Given the description of an element on the screen output the (x, y) to click on. 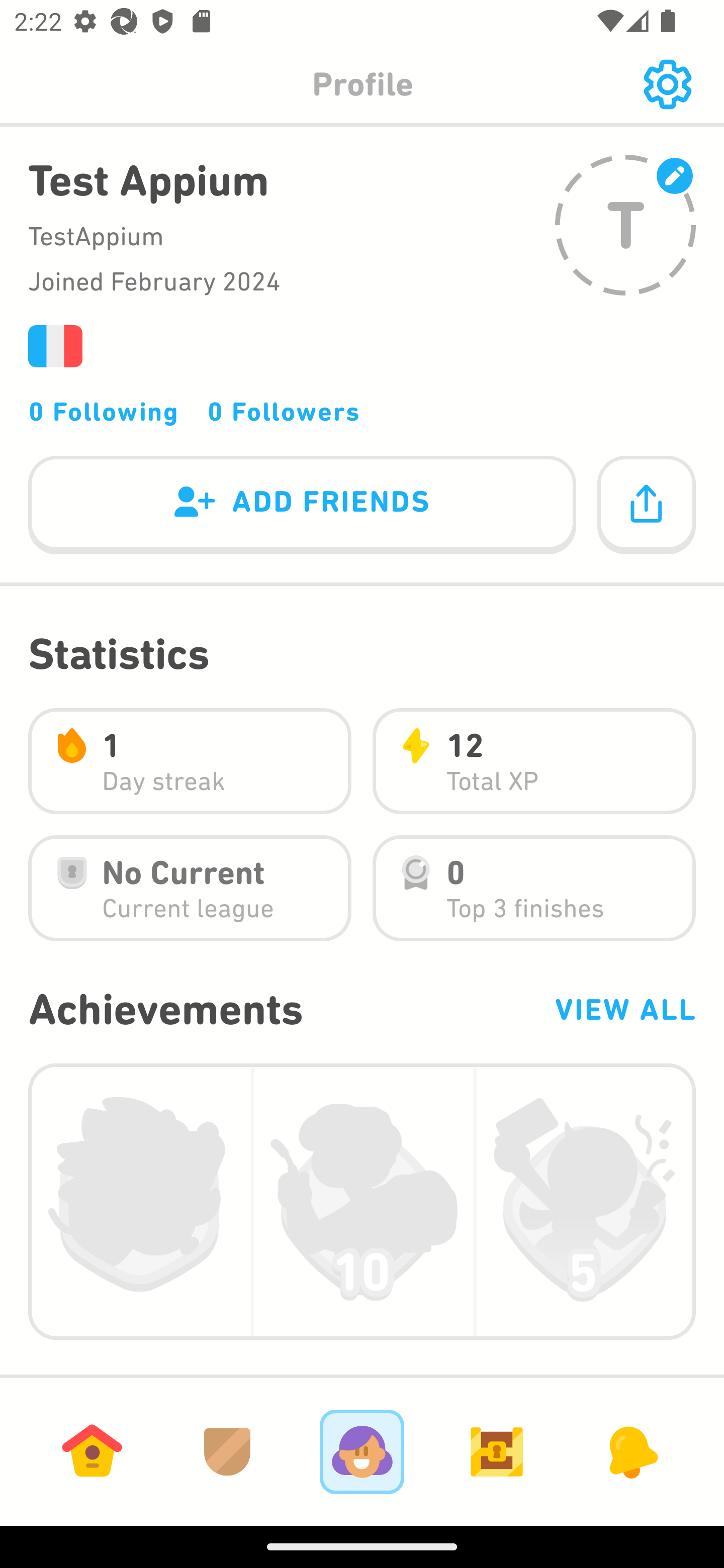
Settings (667, 84)
0 Following (103, 411)
0 Followers (283, 411)
ADD FRIENDS (302, 505)
1 Day streak (189, 760)
VIEW ALL (624, 1009)
Learn Tab (91, 1451)
Leagues Tab (227, 1451)
Profile Tab (361, 1451)
Goals Tab (496, 1451)
News Tab (631, 1451)
